Given the description of an element on the screen output the (x, y) to click on. 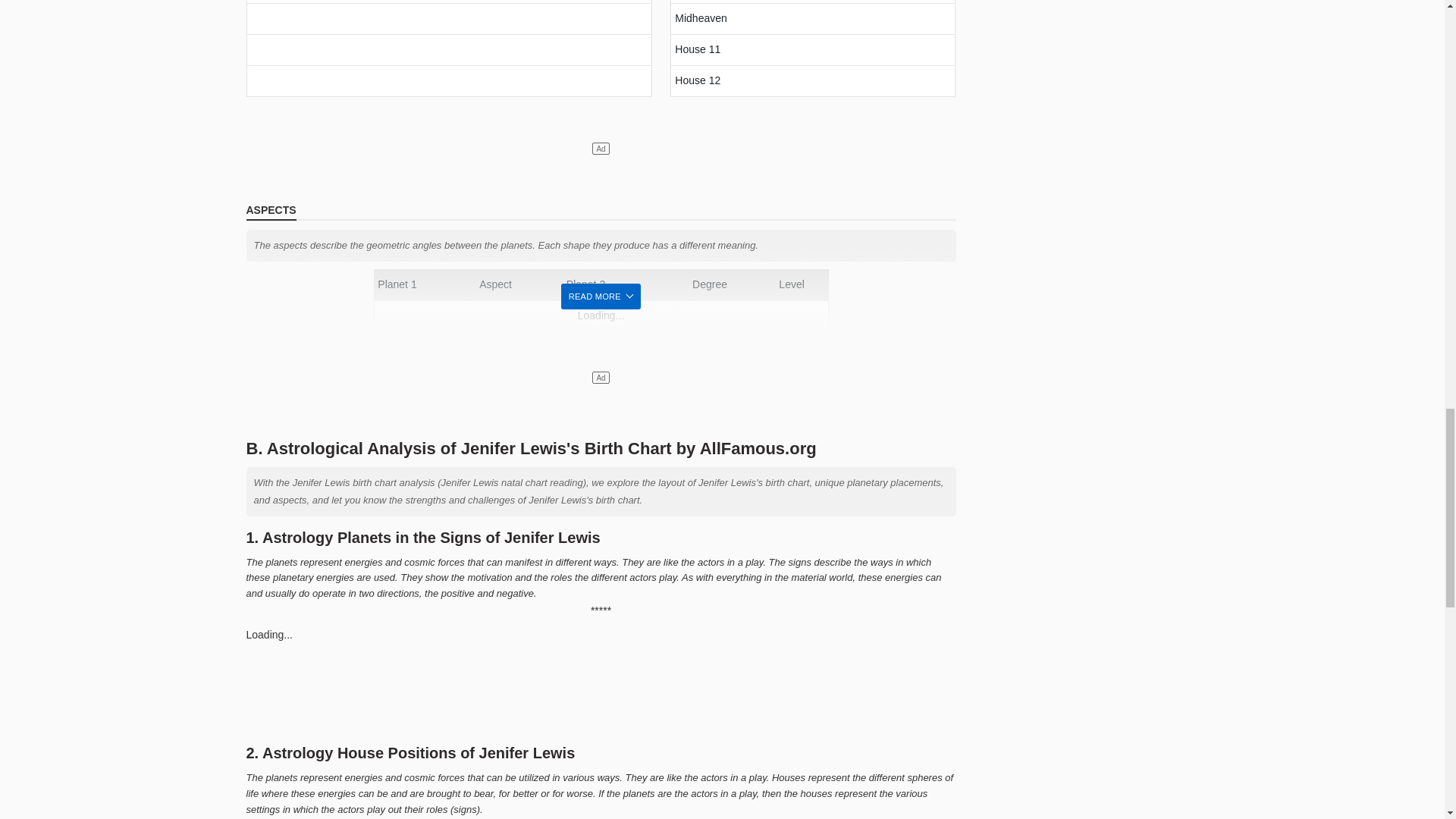
Advertisement (600, 689)
